Given the description of an element on the screen output the (x, y) to click on. 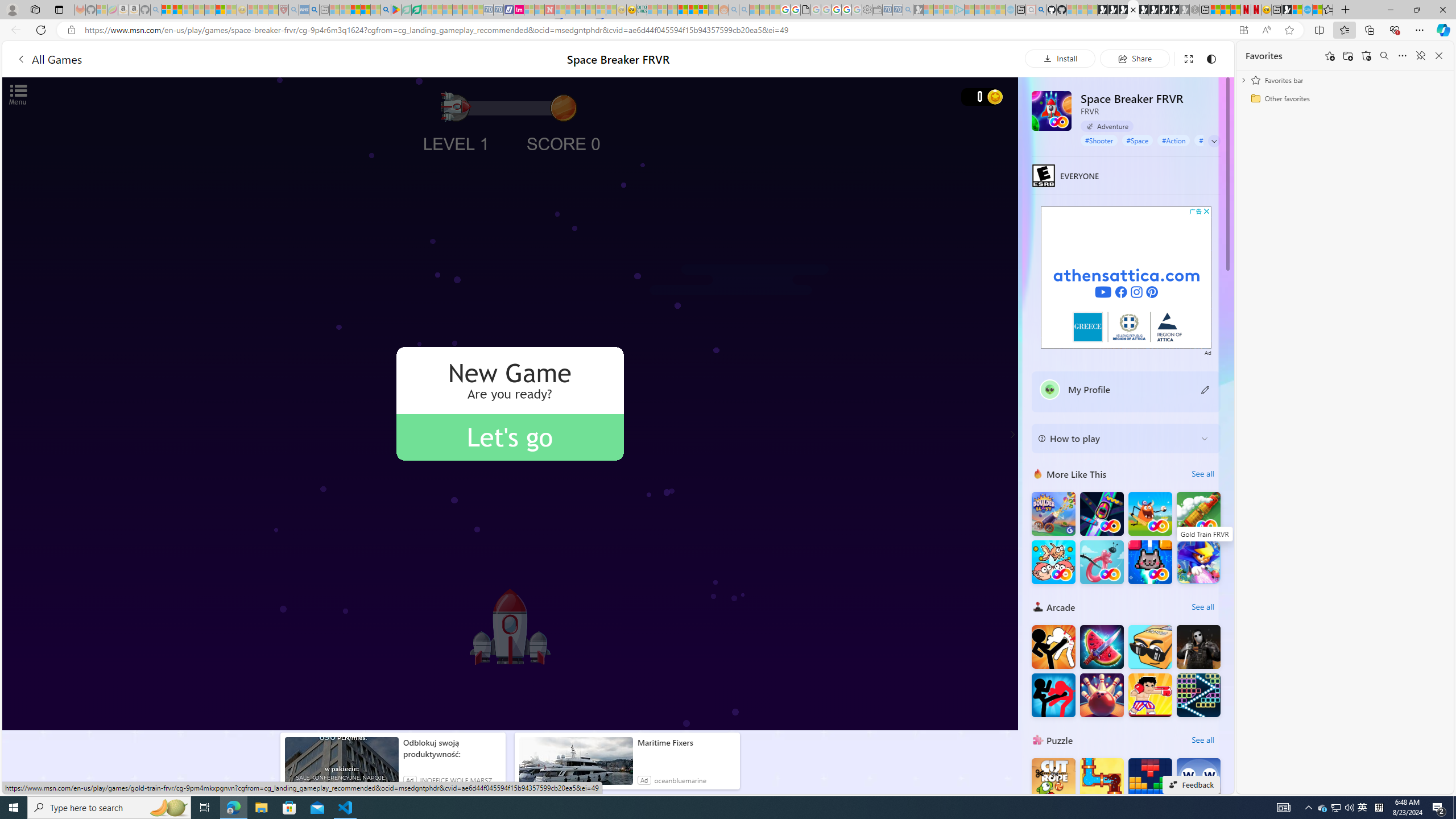
Add this page to favorites (1330, 55)
BlockBuster: Adventures Puzzle (1149, 779)
Pets - MSN (365, 9)
Cubes2048 (1149, 646)
